Given the description of an element on the screen output the (x, y) to click on. 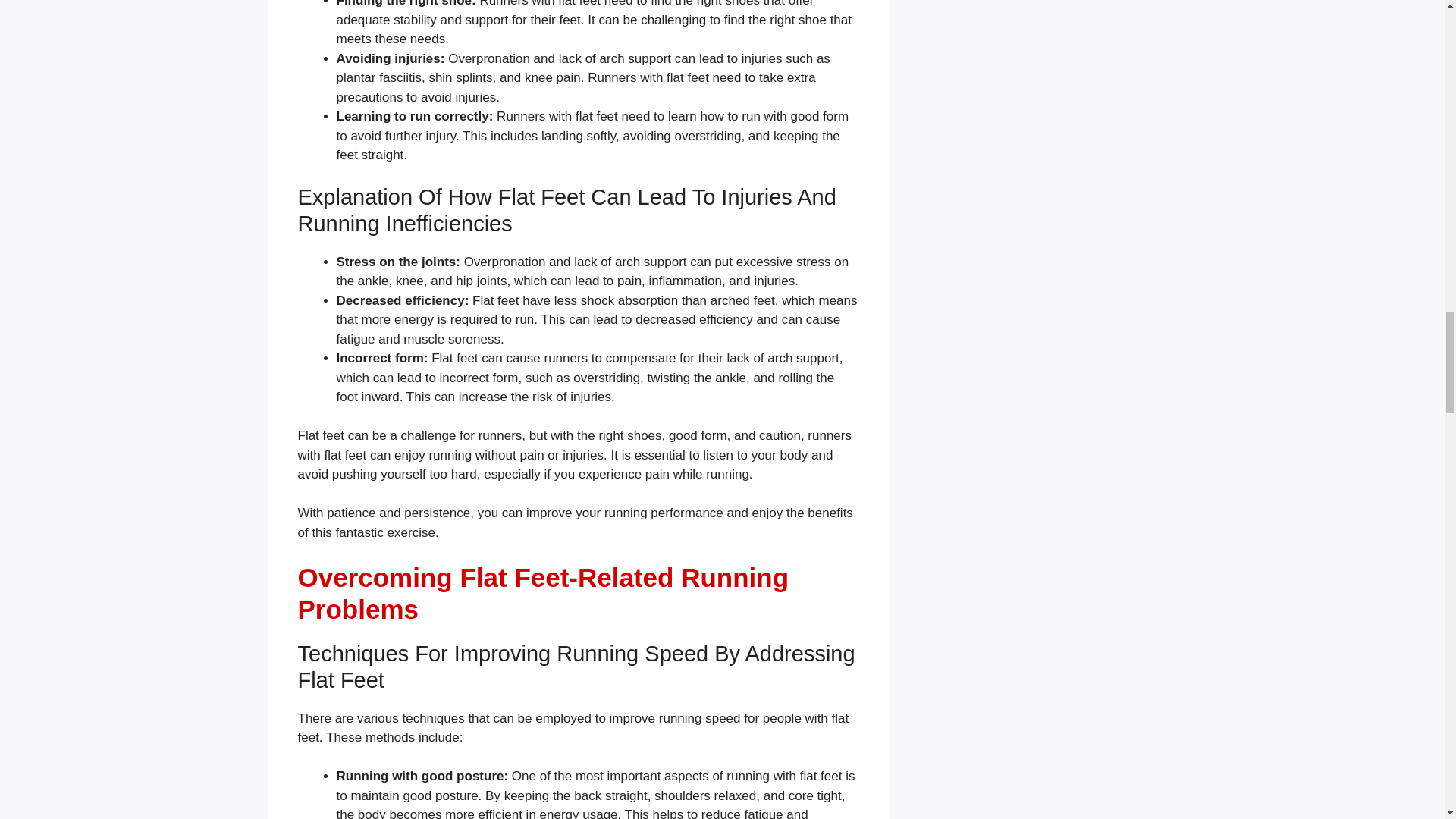
right shoes (727, 3)
